Given the description of an element on the screen output the (x, y) to click on. 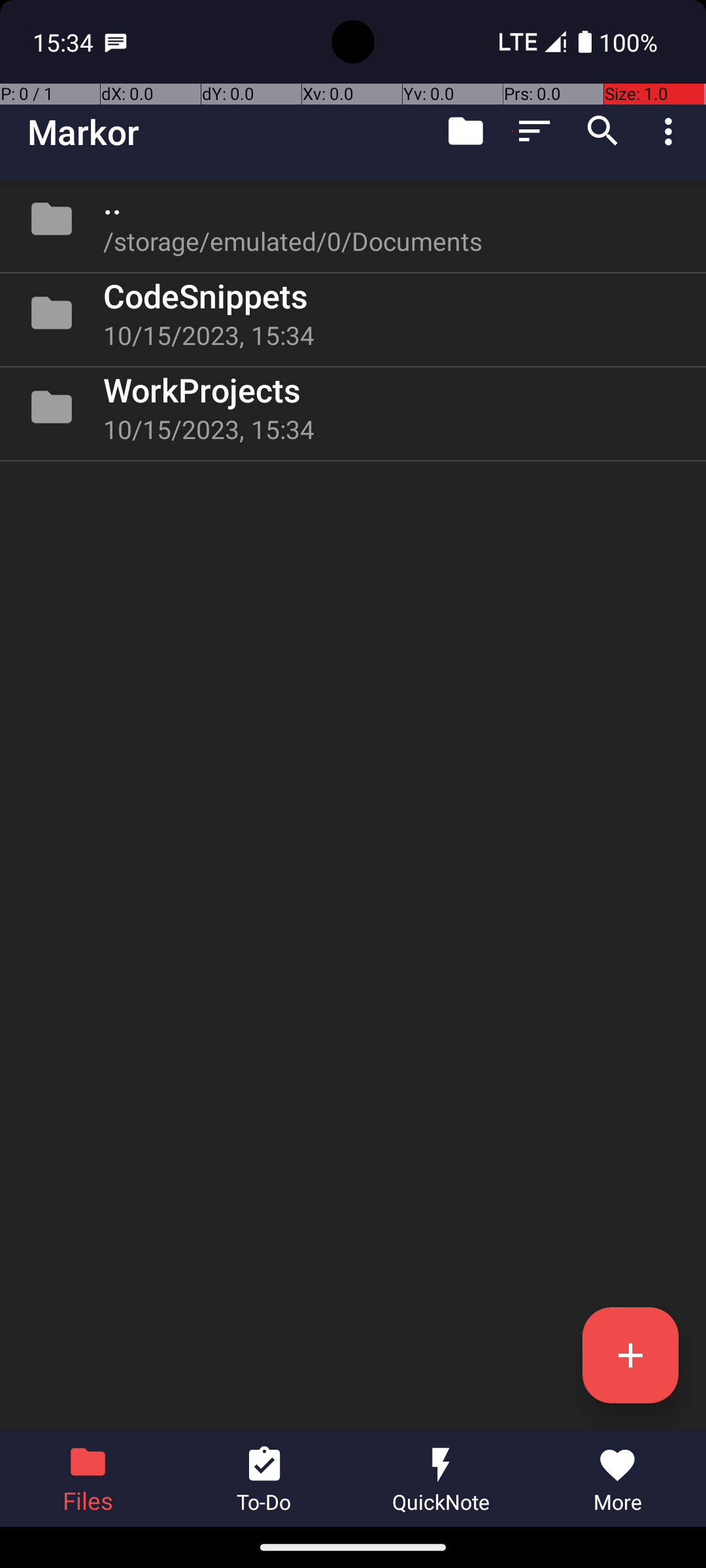
Folder CodeSnippets  Element type: android.widget.LinearLayout (353, 312)
Folder WorkProjects  Element type: android.widget.LinearLayout (353, 406)
